Given the description of an element on the screen output the (x, y) to click on. 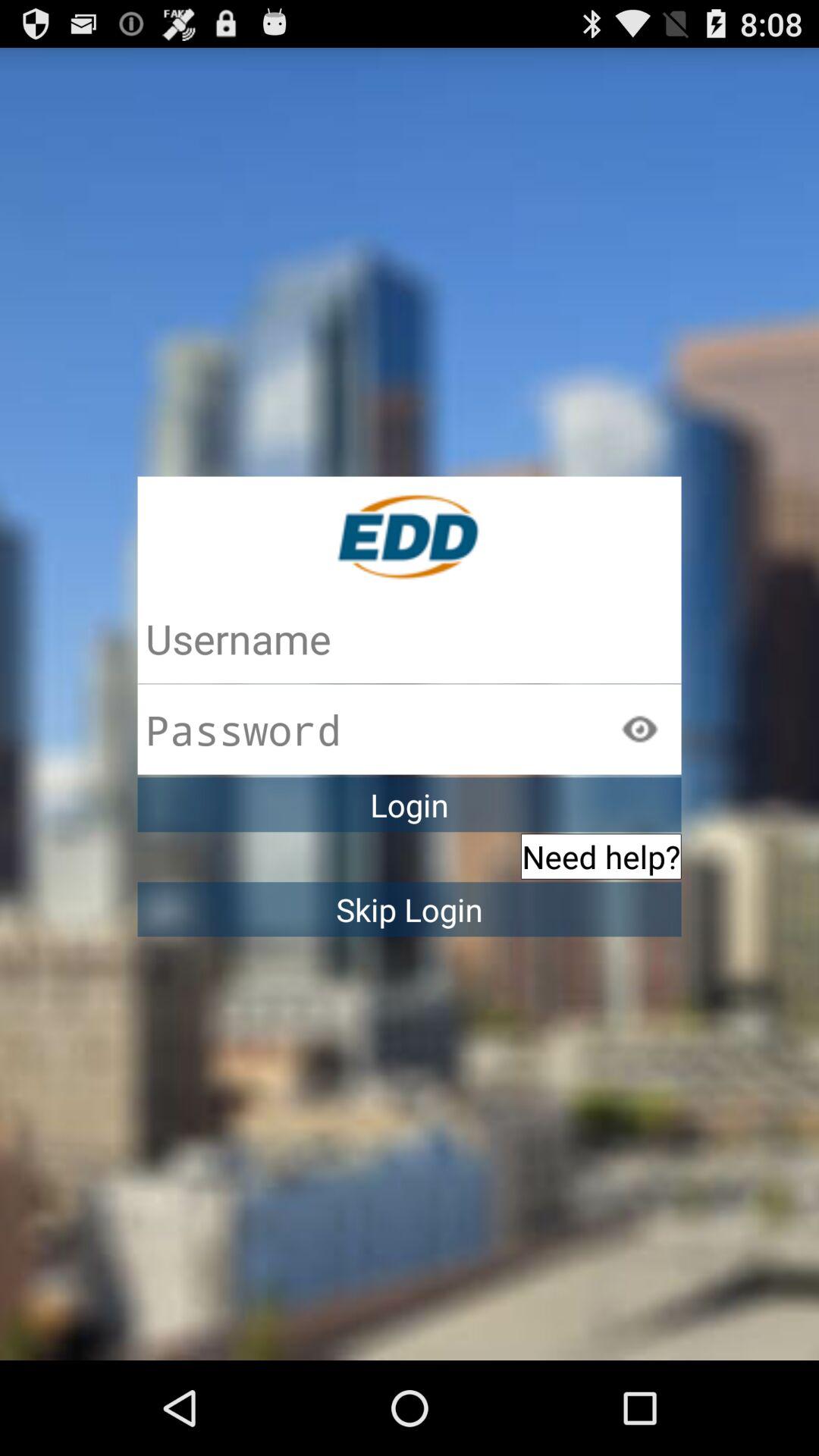
launch app below login item (600, 856)
